Given the description of an element on the screen output the (x, y) to click on. 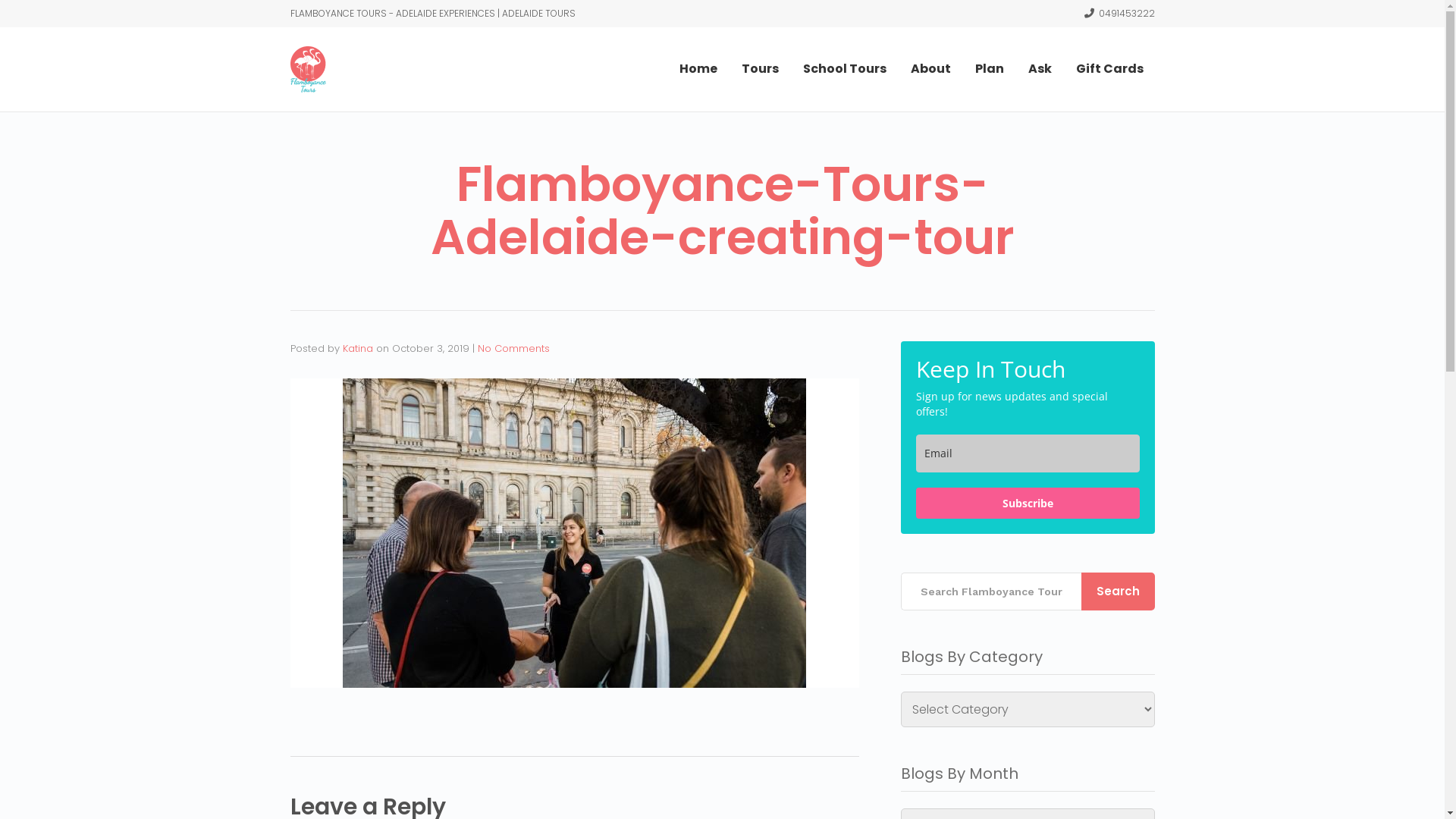
Tours Element type: text (759, 68)
Plan Element type: text (989, 68)
No Comments Element type: text (513, 348)
Gift Cards Element type: text (1108, 68)
About Element type: text (930, 68)
0491453222 Element type: text (1119, 12)
Katina Element type: text (357, 348)
Subscribe Element type: text (1027, 502)
Ask Element type: text (1039, 68)
Search Element type: text (1117, 591)
School Tours Element type: text (843, 68)
Home Element type: text (698, 68)
